Given the description of an element on the screen output the (x, y) to click on. 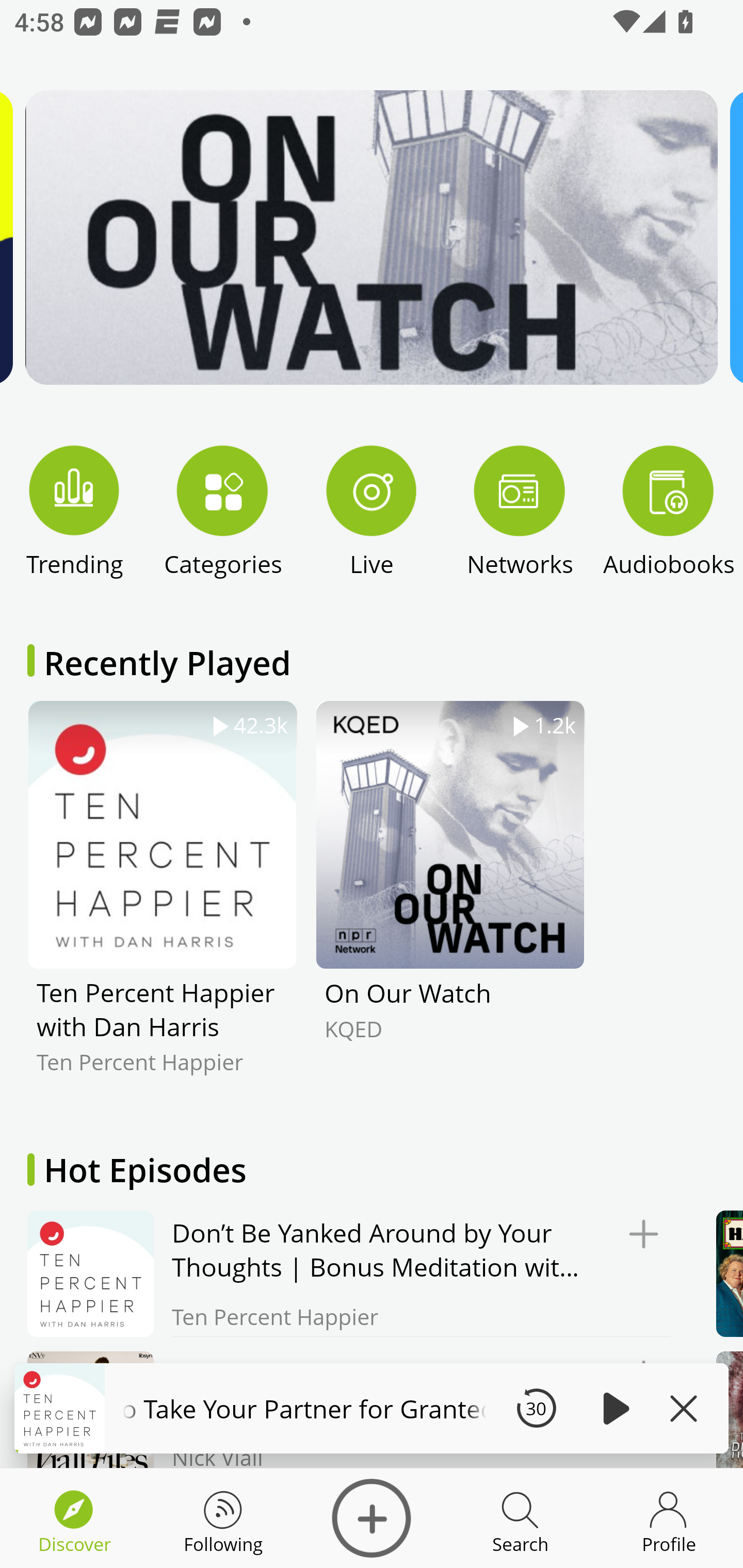
1.2k On Our Watch KQED (450, 902)
Play (613, 1407)
30 Seek Backward (536, 1407)
Discover Following (222, 1518)
Discover (371, 1518)
Discover Search (519, 1518)
Discover Profile (668, 1518)
